Given the description of an element on the screen output the (x, y) to click on. 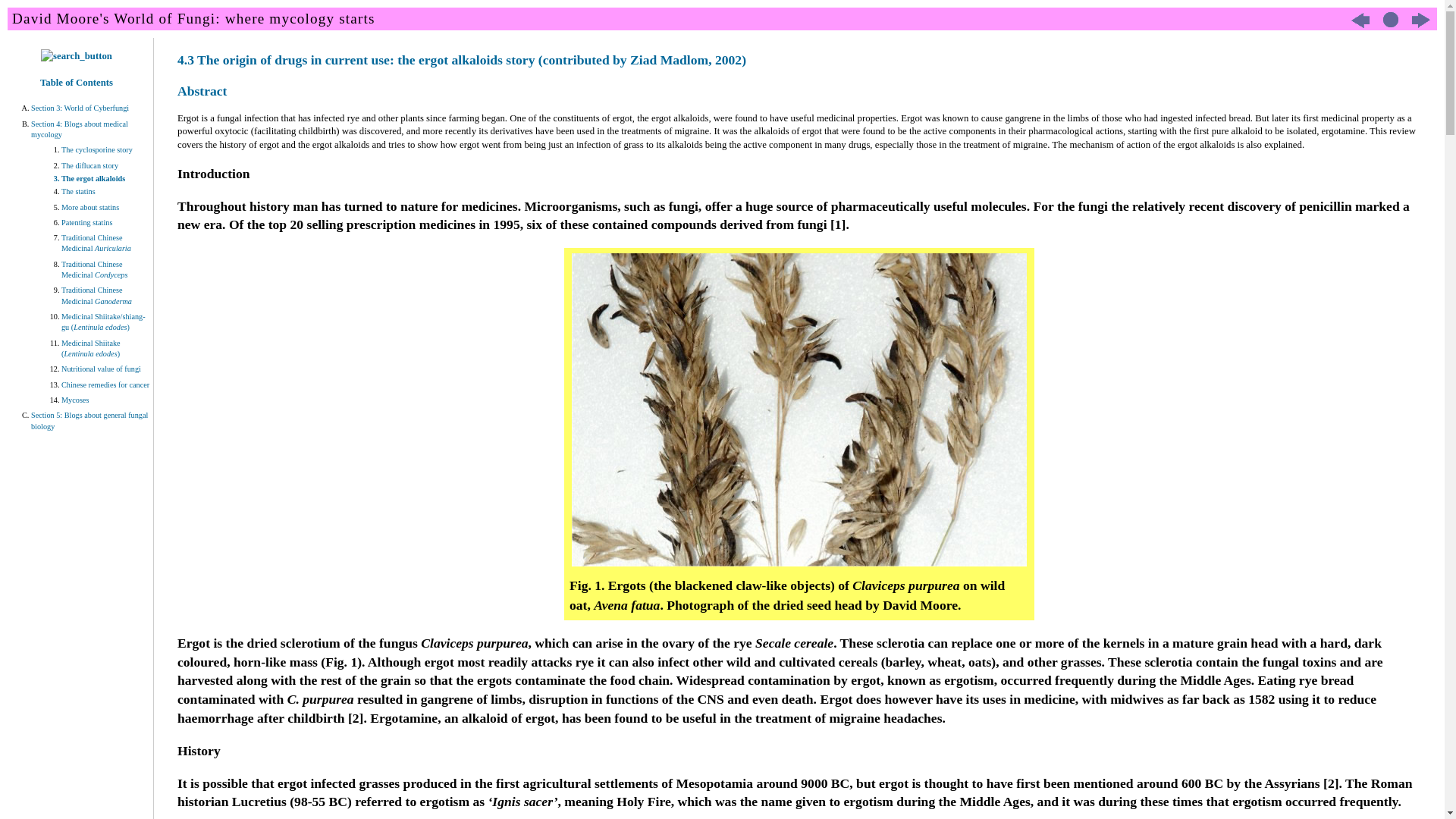
Nutritional value of fungi (106, 368)
The cyclosporine story (106, 150)
Chinese remedies for cancer (106, 385)
Table of Contents (76, 82)
The diflucan story (106, 165)
Patenting statins (106, 222)
Mycoses (106, 400)
More about statins (106, 207)
Traditional Chinese Medicinal Cordyceps (106, 270)
Traditional Chinese Medicinal Auricularia (106, 243)
